Given the description of an element on the screen output the (x, y) to click on. 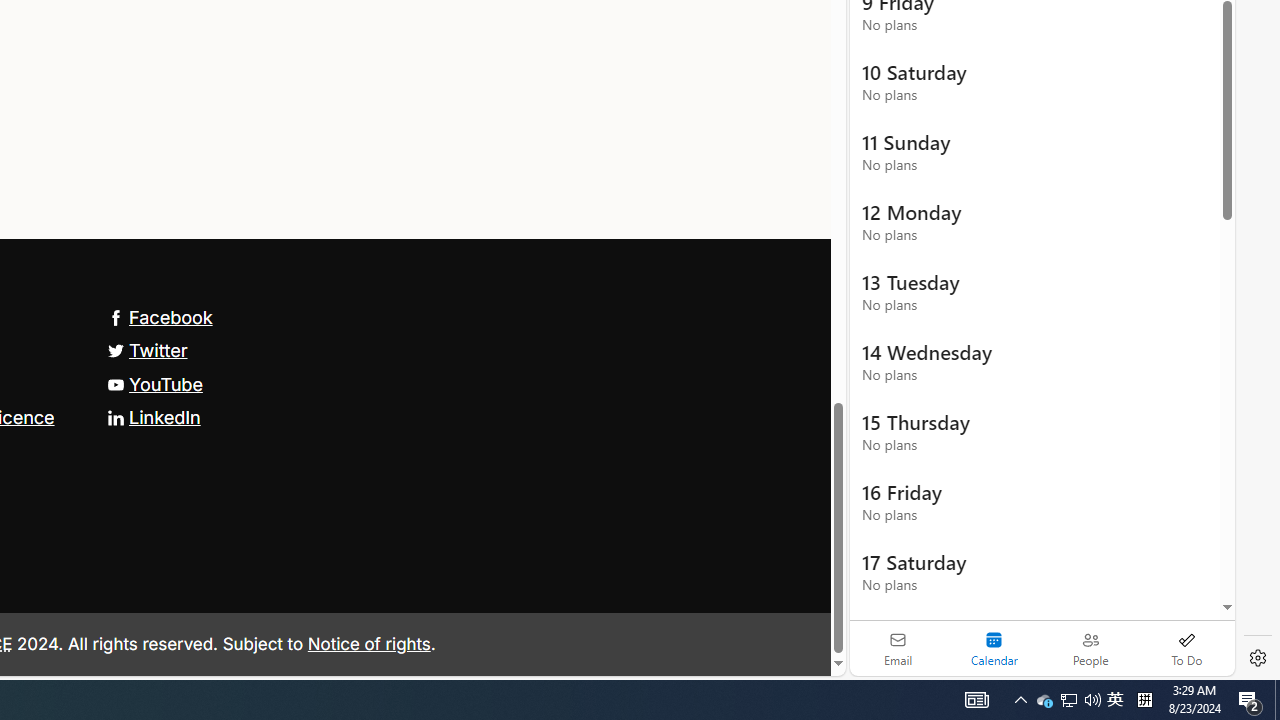
Email (898, 648)
Notice of rights (369, 642)
